Given the description of an element on the screen output the (x, y) to click on. 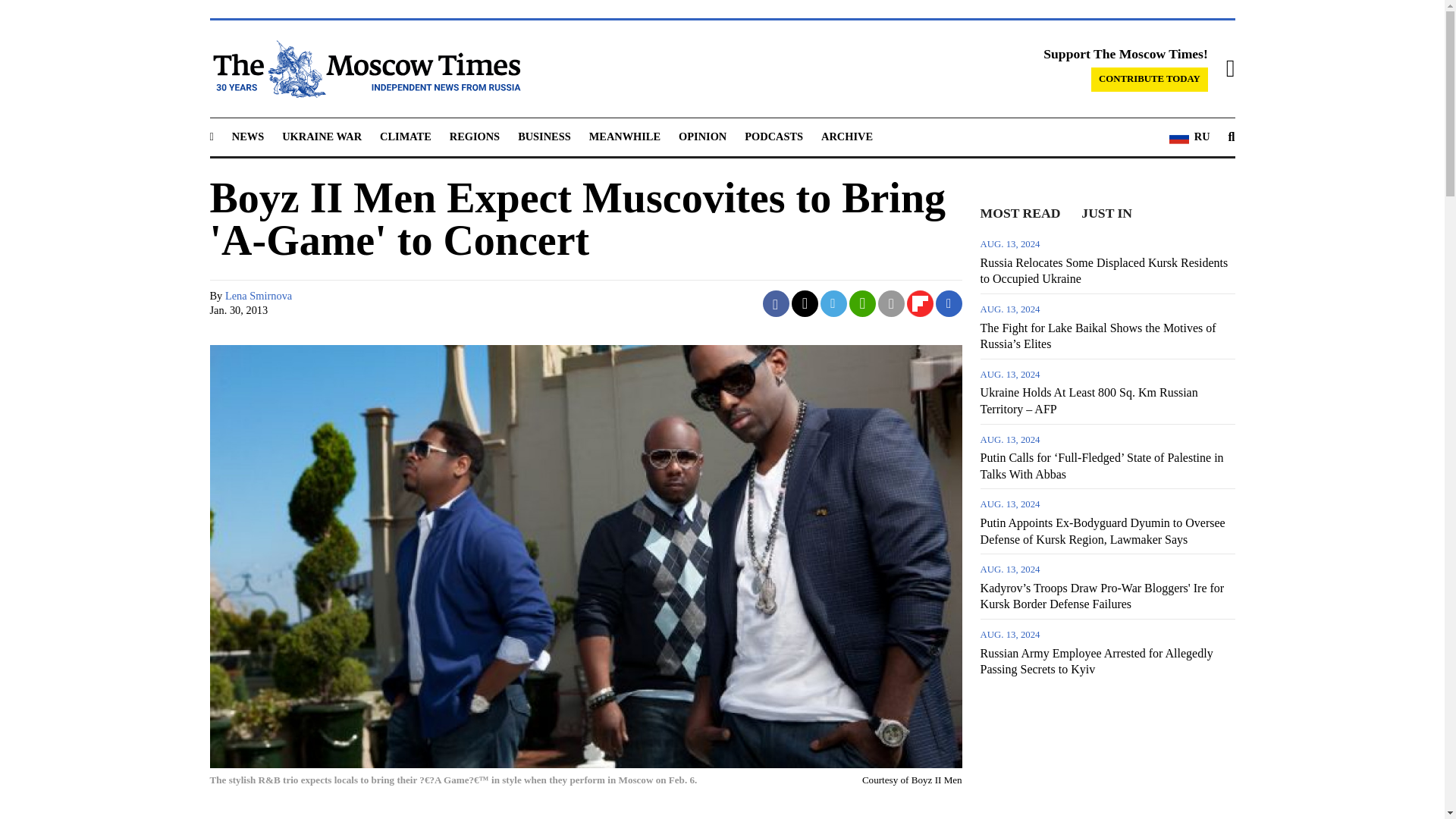
ARCHIVE (846, 136)
PODCASTS (773, 136)
OPINION (702, 136)
BUSINESS (544, 136)
Share on Facebook (775, 303)
The Moscow Times - Independent News from Russia (364, 68)
MEANWHILE (625, 136)
Share on Twitter (805, 303)
Share on Flipboard (920, 303)
